Given the description of an element on the screen output the (x, y) to click on. 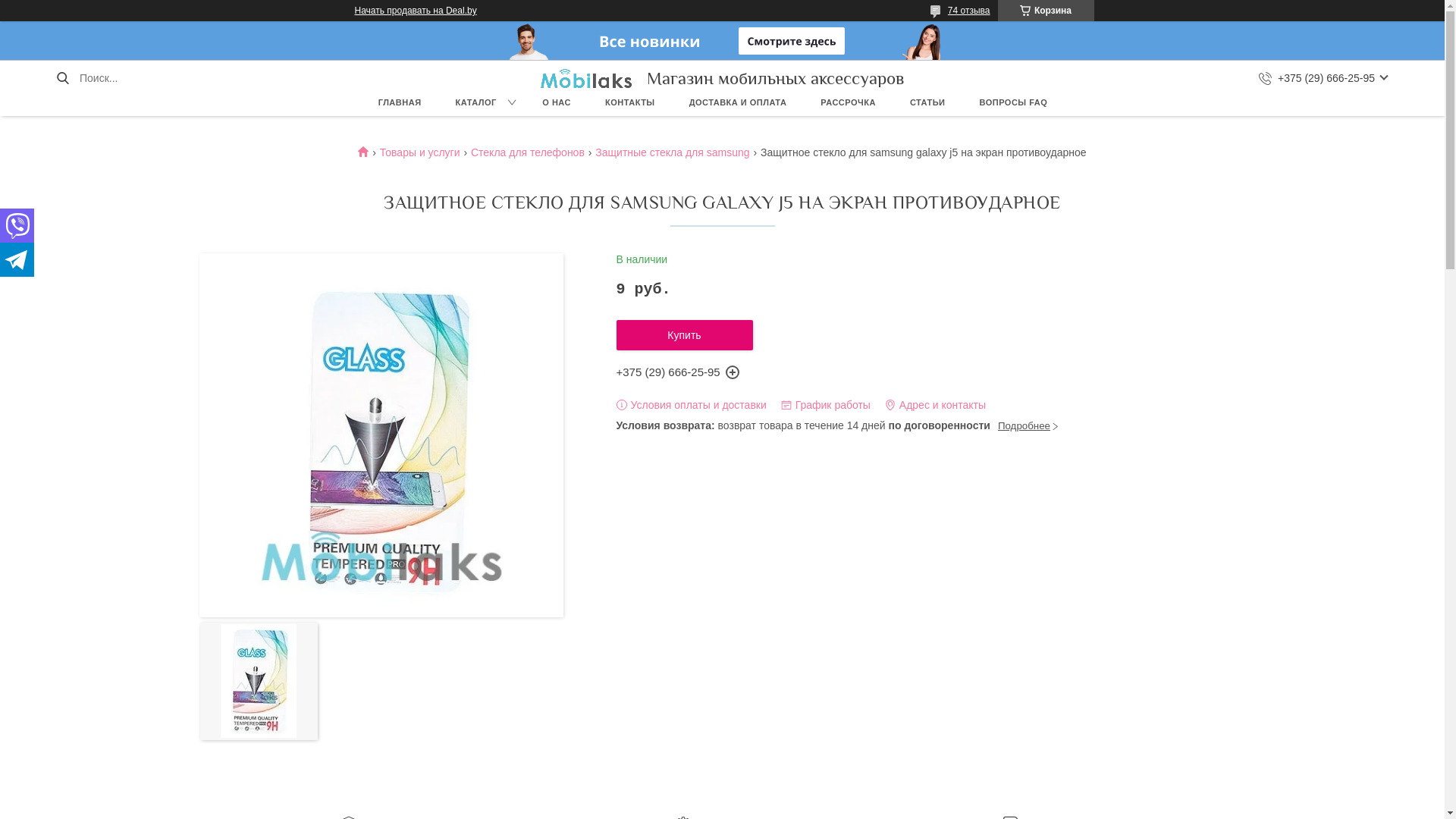
Mobilaks Element type: hover (584, 77)
Mobilaks Element type: hover (368, 151)
